Given the description of an element on the screen output the (x, y) to click on. 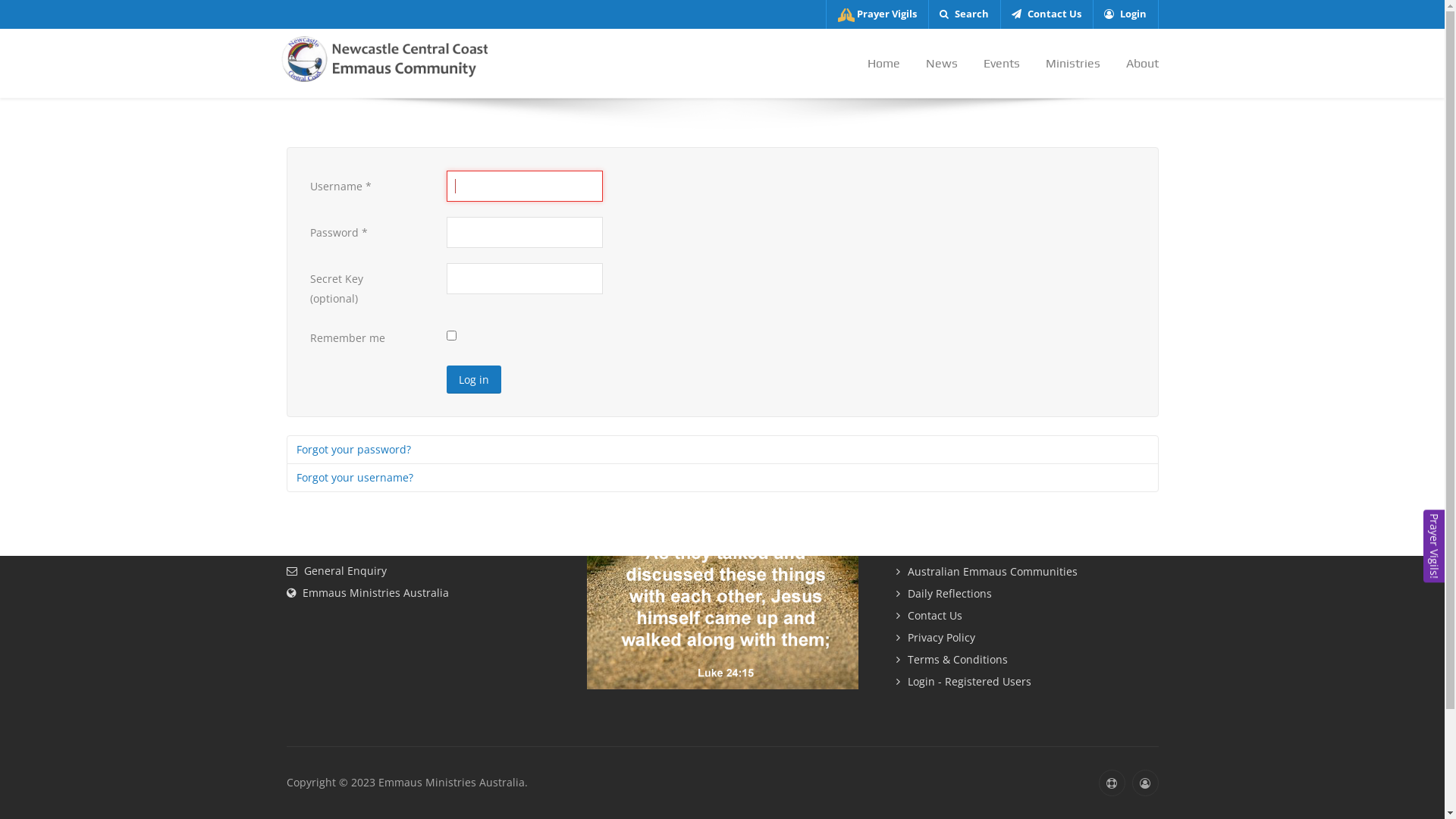
Login - Registered Users Element type: hover (1144, 782)
Home Element type: text (882, 62)
Events Element type: text (1001, 62)
Search Element type: text (964, 14)
Login Element type: text (1124, 14)
Newcastle Central Coast Emmaus Community Element type: hover (380, 57)
Forgot your username? Element type: text (722, 477)
Prayer Vigils Element type: text (1027, 549)
Forgot your password? Element type: text (722, 449)
News Element type: text (941, 62)
Daily Reflections Element type: text (1027, 593)
Emmaus Ministries Australia Element type: text (367, 592)
Ministries Element type: text (1072, 62)
Login - Registered Users Element type: text (1027, 681)
About Element type: text (1135, 62)
General Enquiry Element type: text (336, 570)
Contact Us Element type: text (1027, 615)
Log in Element type: text (472, 379)
Contact the National webmaster Element type: hover (1111, 782)
Privacy Policy Element type: text (1027, 637)
Contact Us Element type: text (1045, 14)
Australian Emmaus Communities Element type: text (1027, 571)
Terms & Conditions Element type: text (1027, 659)
Prayer Vigils Element type: text (877, 14)
